Given the description of an element on the screen output the (x, y) to click on. 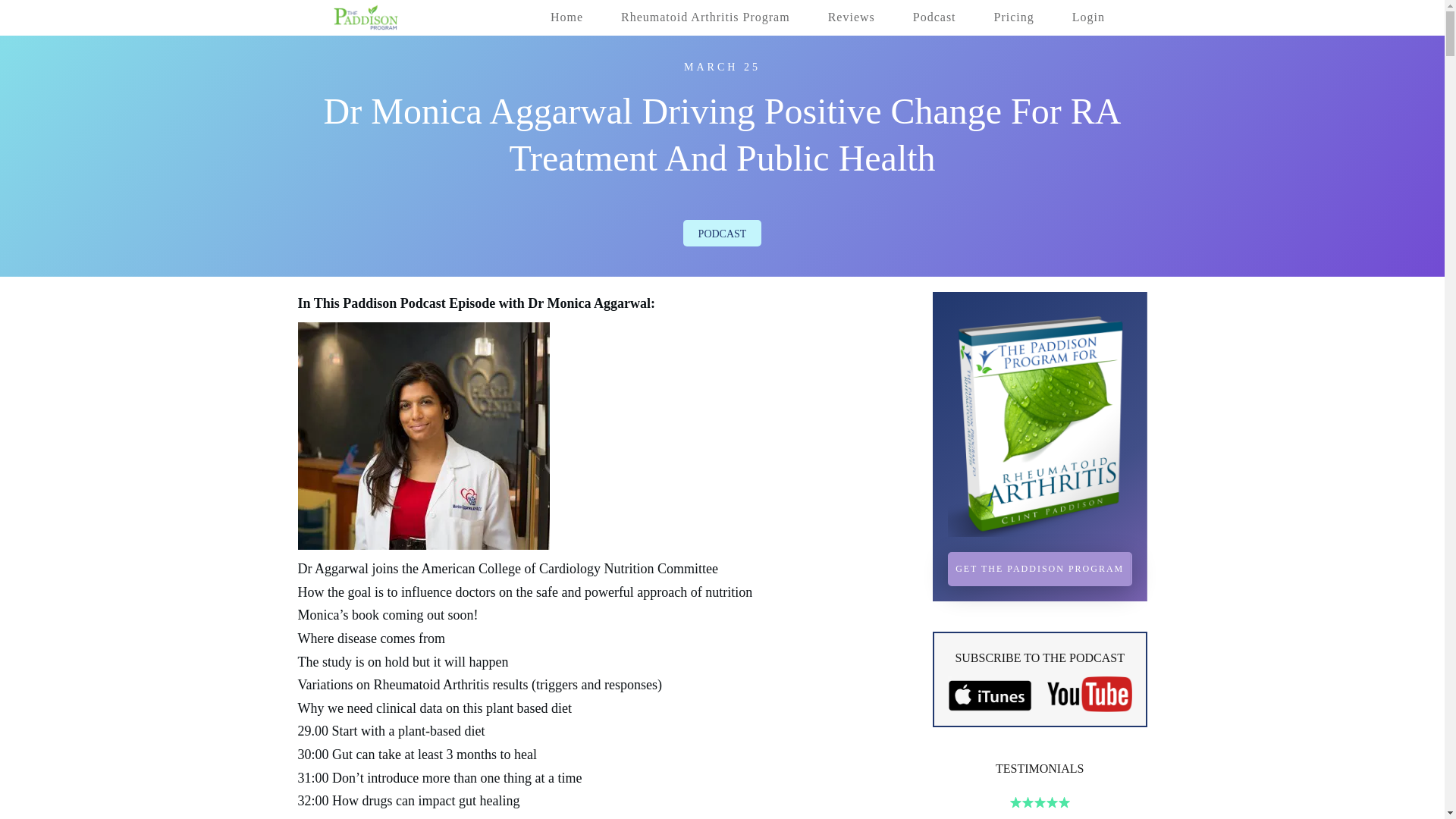
Reviews (851, 16)
PP-for-RA-eBook-Cover-min (1039, 422)
Youtube Logo (1088, 693)
Rheumatoid Arthritis Program (705, 16)
GET THE PADDISON PROGRAM (1039, 569)
Login (1088, 16)
Home (566, 16)
Podcast (722, 233)
iTunes logo (989, 693)
Pricing (1013, 16)
PODCAST (722, 233)
Podcast (934, 16)
